Given the description of an element on the screen output the (x, y) to click on. 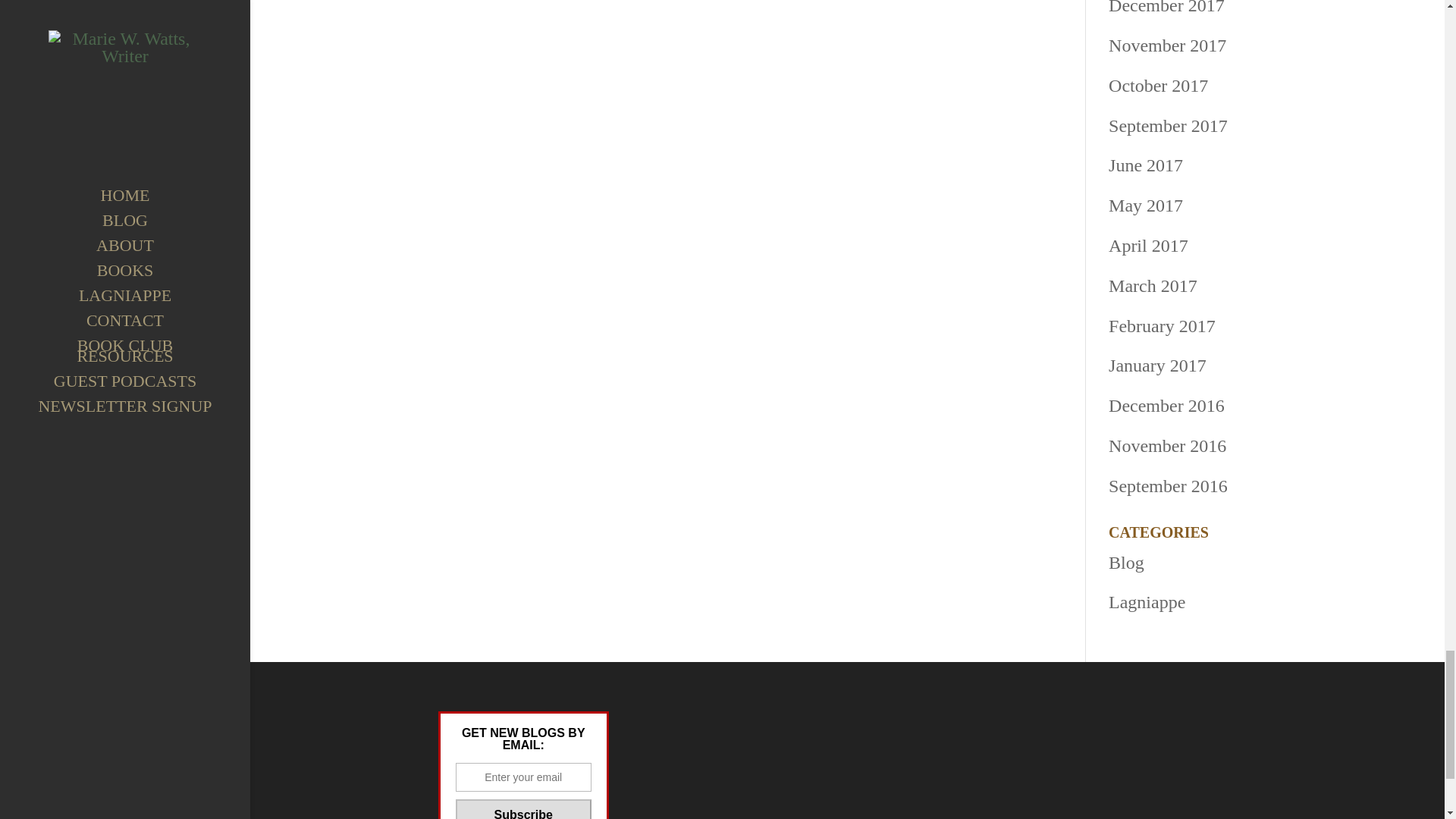
Subscribe (522, 809)
